Given the description of an element on the screen output the (x, y) to click on. 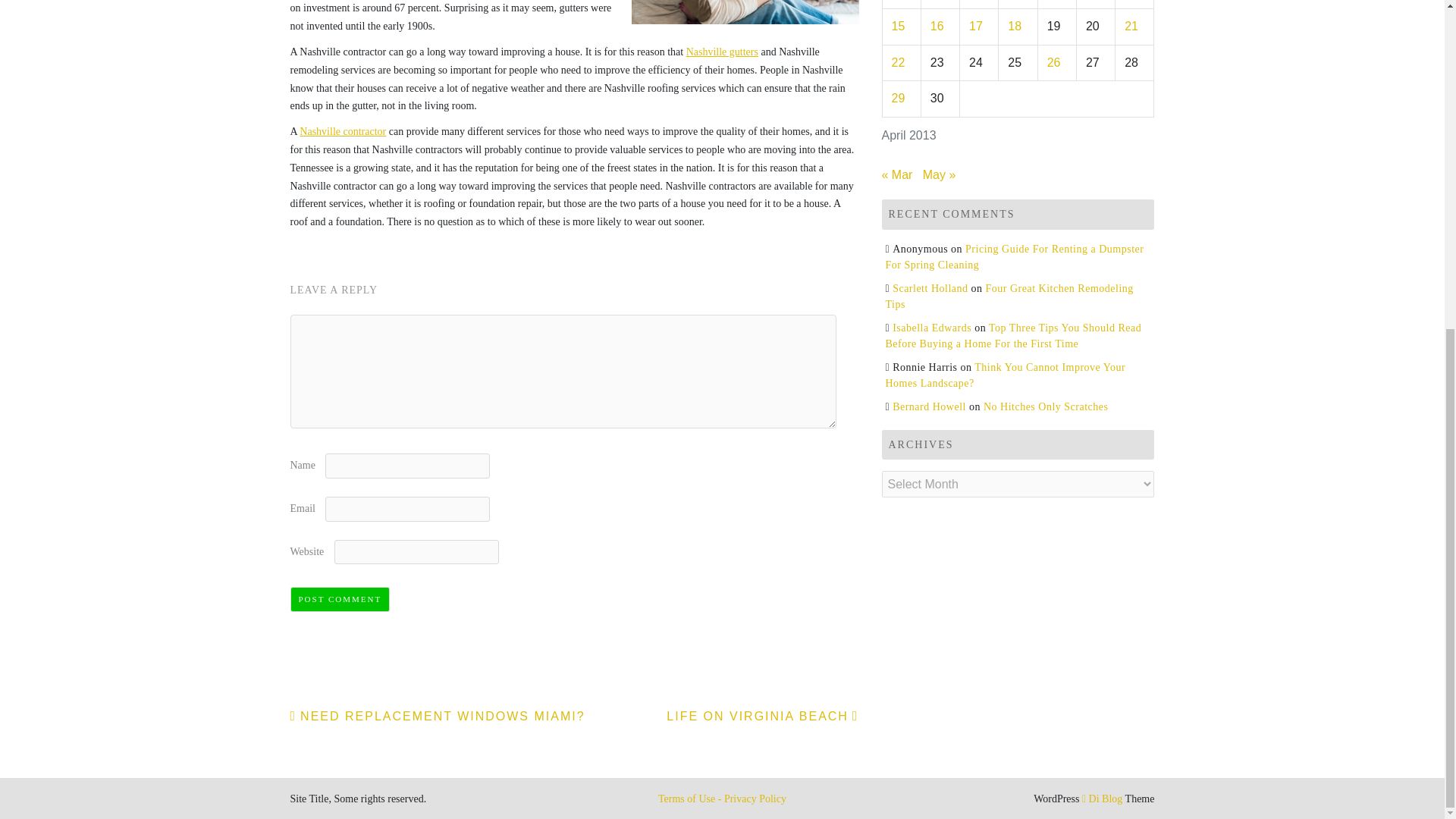
Find more info about Nashville contractor (342, 131)
For more information on Nashville roofing (721, 51)
NEED REPLACEMENT WINDOWS MIAMI? (437, 716)
Nashville contractor (342, 131)
16 (936, 25)
Post Comment (339, 599)
Nashville gutters (721, 51)
21 (1131, 25)
18 (1014, 25)
LIFE ON VIRGINIA BEACH (762, 716)
